Given the description of an element on the screen output the (x, y) to click on. 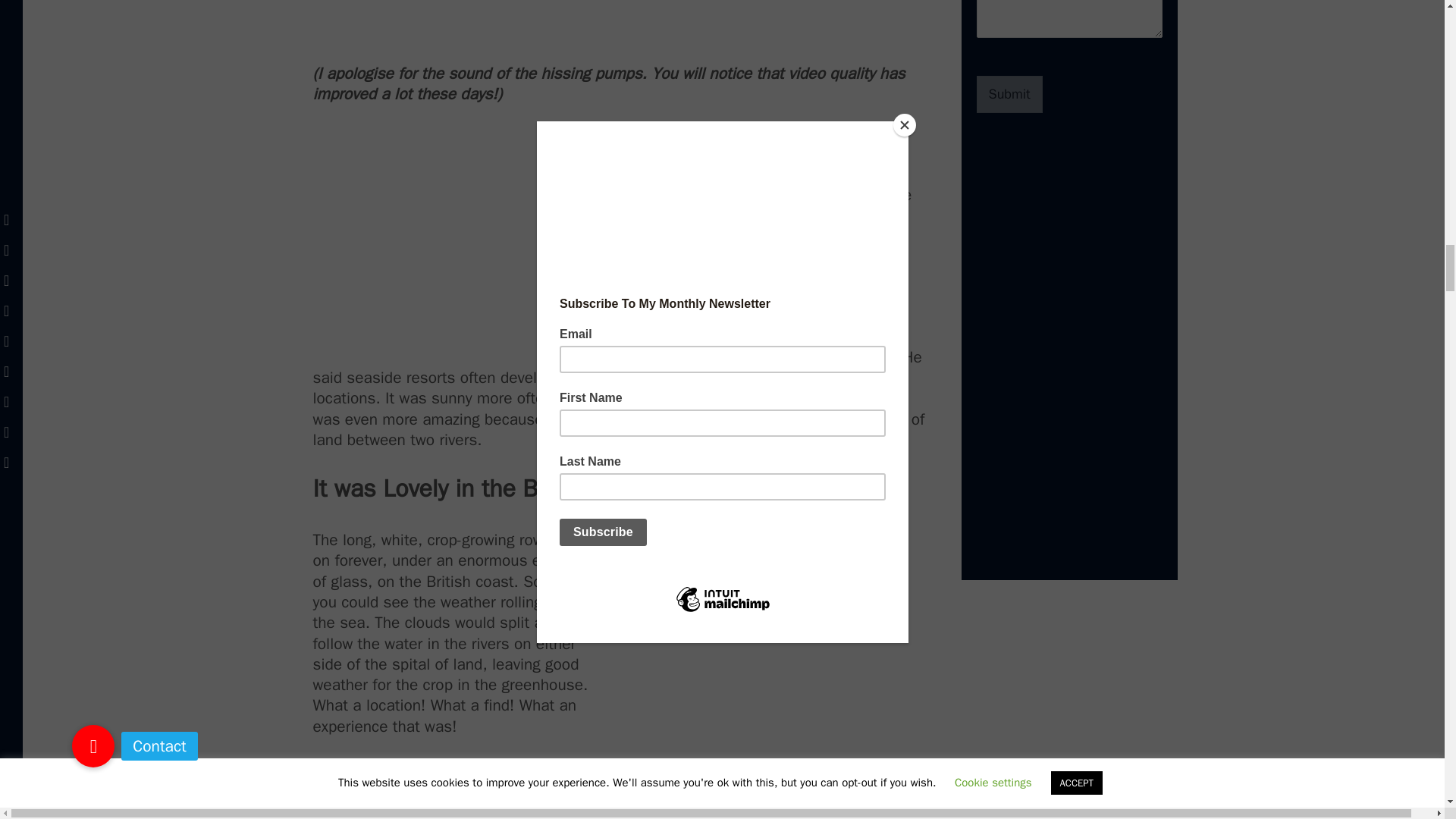
YouTube player (621, 17)
